Given the description of an element on the screen output the (x, y) to click on. 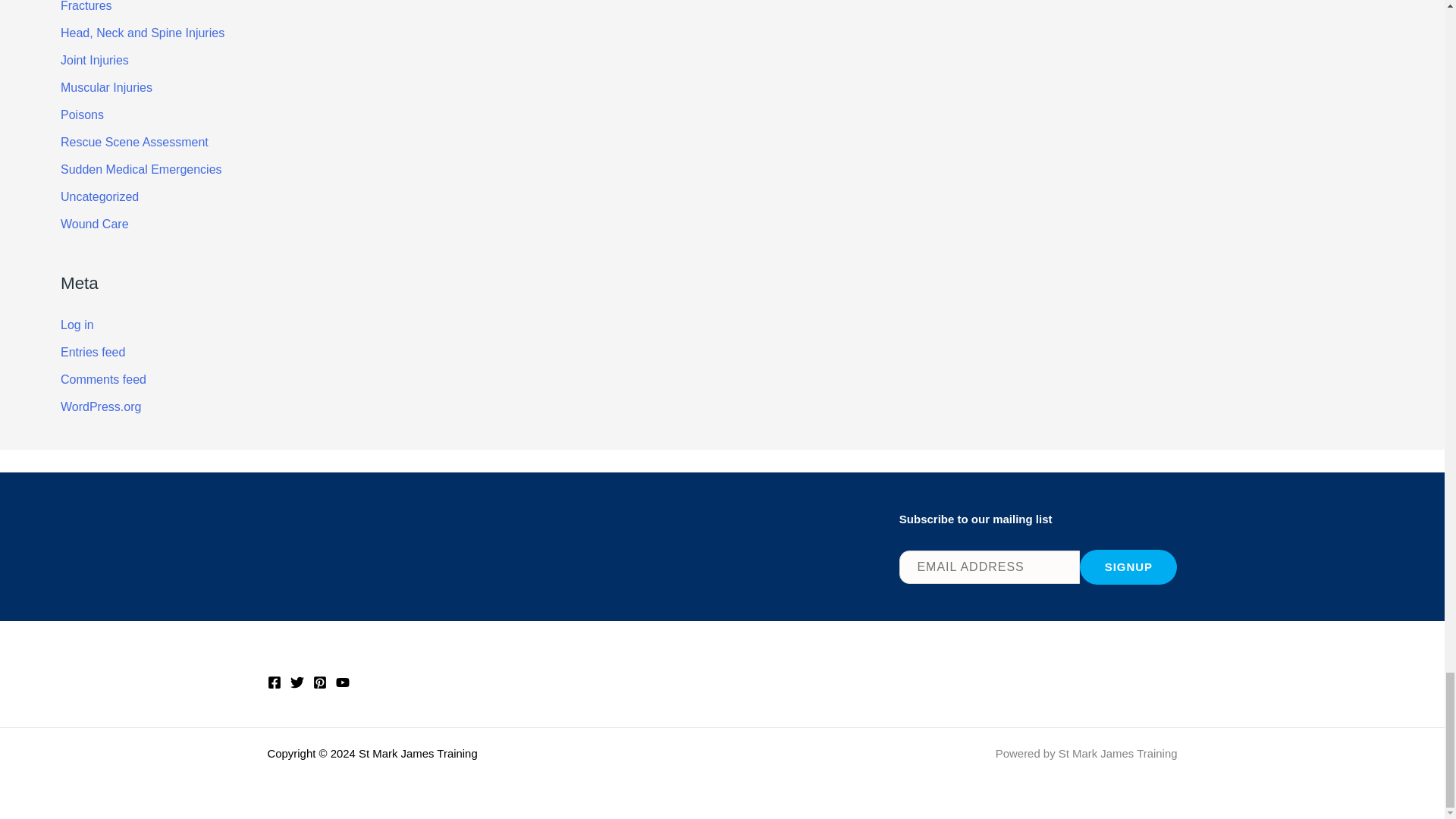
Signup (1128, 566)
